Given the description of an element on the screen output the (x, y) to click on. 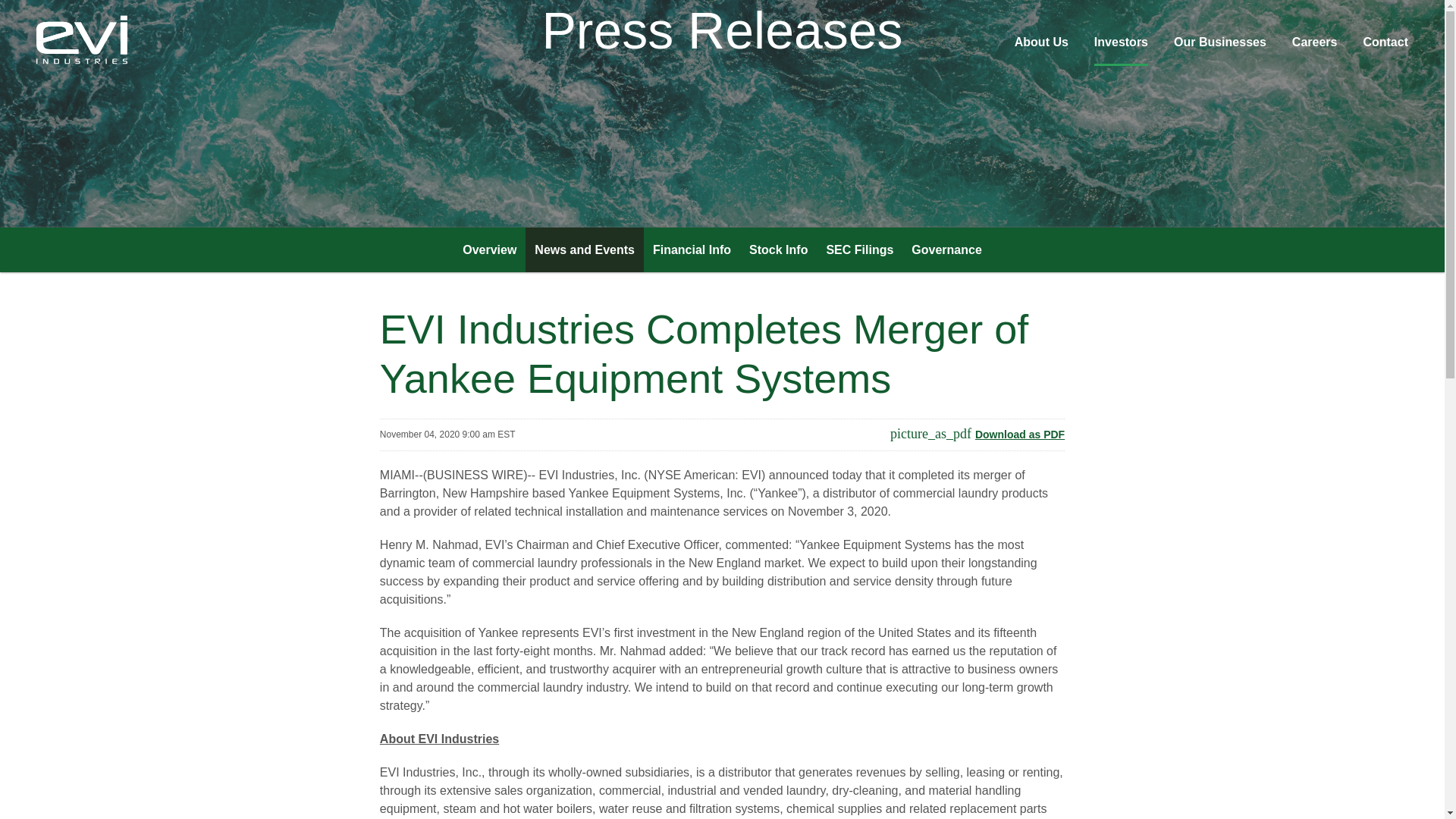
Contact (1384, 48)
About Us (1041, 48)
Investors (1121, 49)
Careers (1315, 48)
Our Businesses (1219, 48)
News and Events (584, 249)
Stock Info (777, 249)
Financial Info (691, 249)
Overview (488, 249)
